Given the description of an element on the screen output the (x, y) to click on. 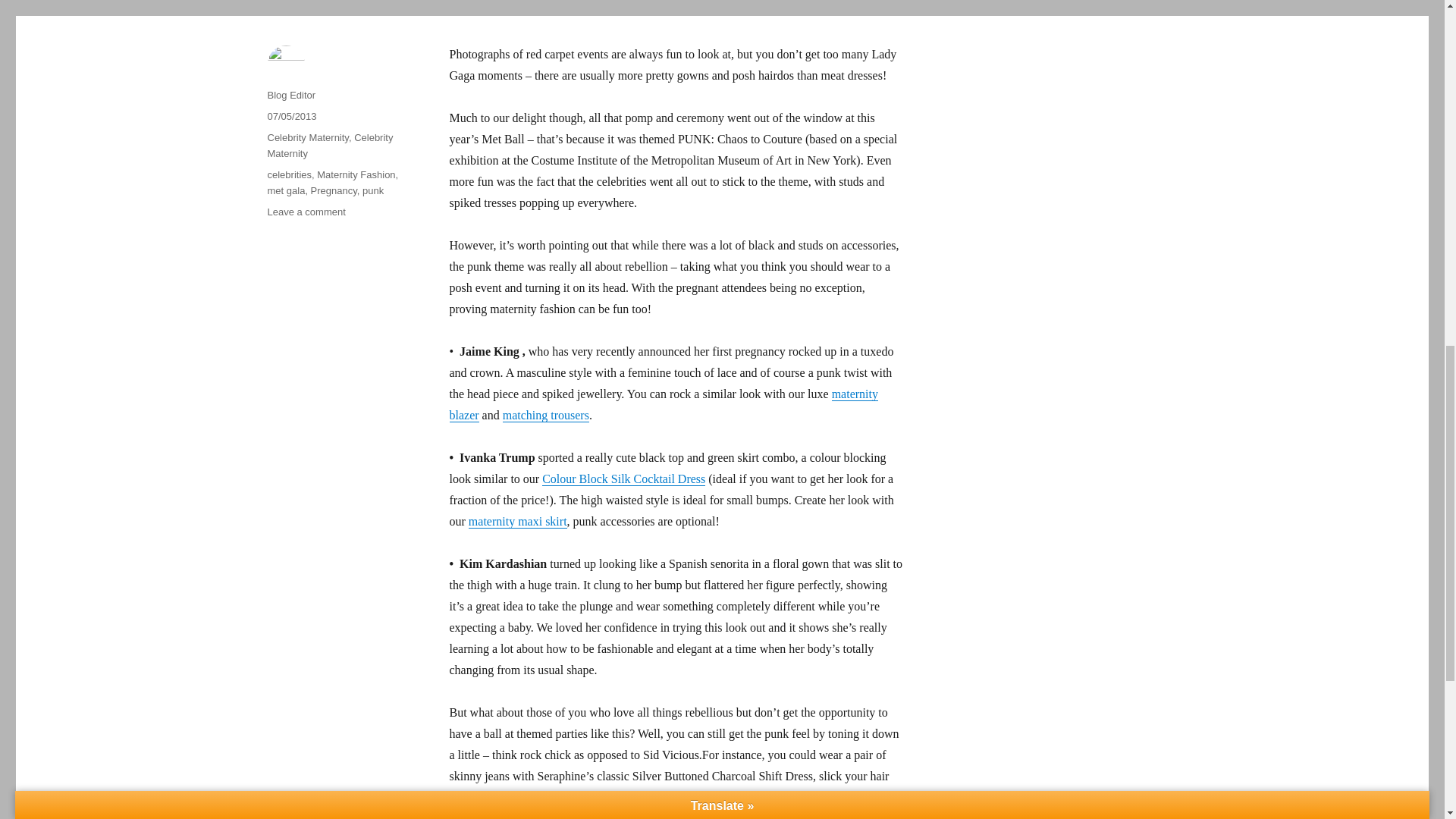
Celebrity Maternity (306, 137)
Blog Editor (290, 94)
Pregnancy (333, 190)
Maternity Skirts (517, 521)
punk (373, 190)
Celebrity Maternity (329, 144)
Maternity Suits (662, 404)
maternity blazer (662, 404)
Maternity Suits (545, 414)
matching trousers (545, 414)
